Given the description of an element on the screen output the (x, y) to click on. 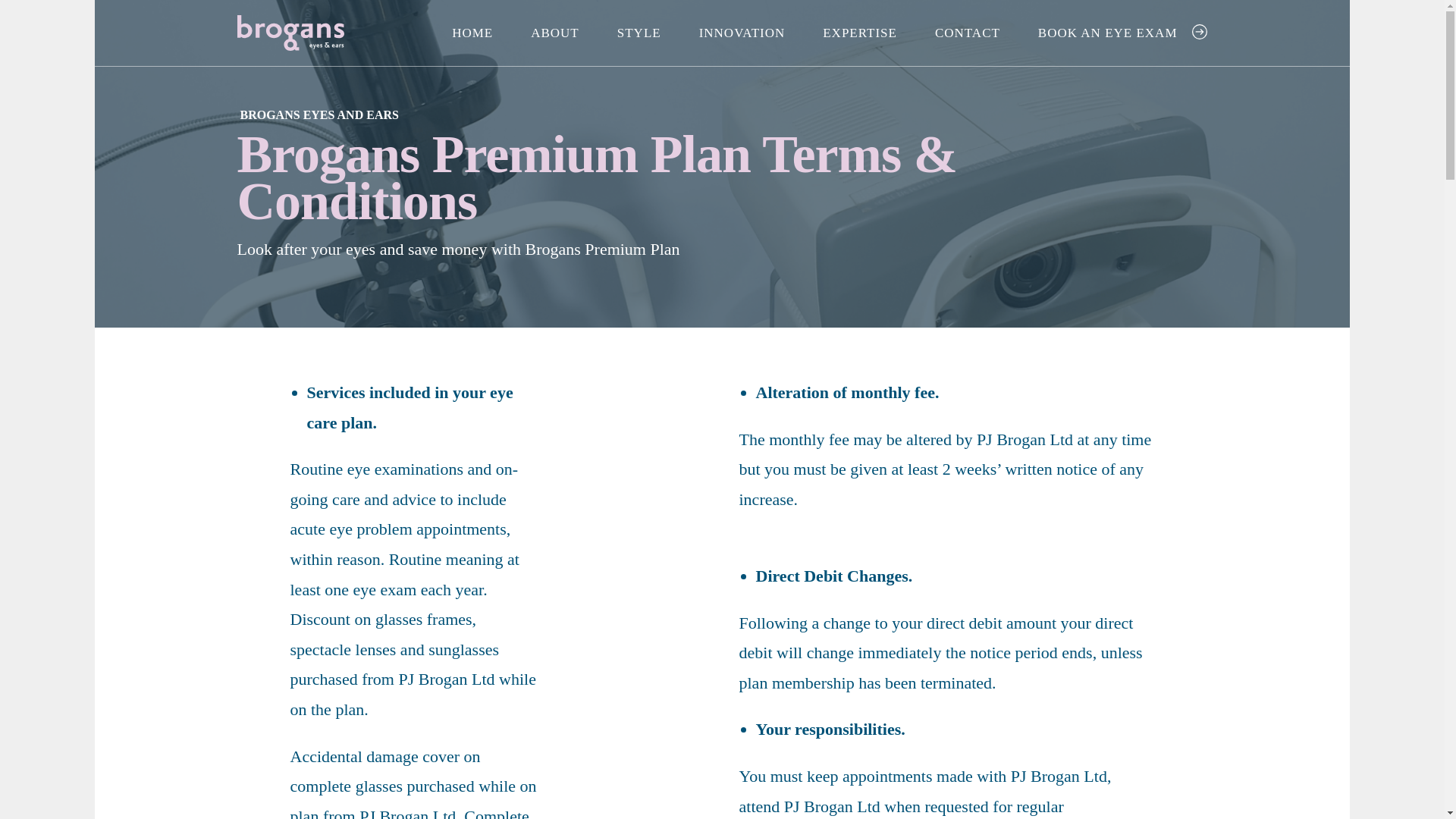
CONTACT (967, 33)
STYLE (639, 33)
INNOVATION (742, 33)
ABOUT (554, 33)
EXPERTISE (859, 33)
BOOK AN EYE EXAM (1107, 33)
HOME (472, 33)
